Given the description of an element on the screen output the (x, y) to click on. 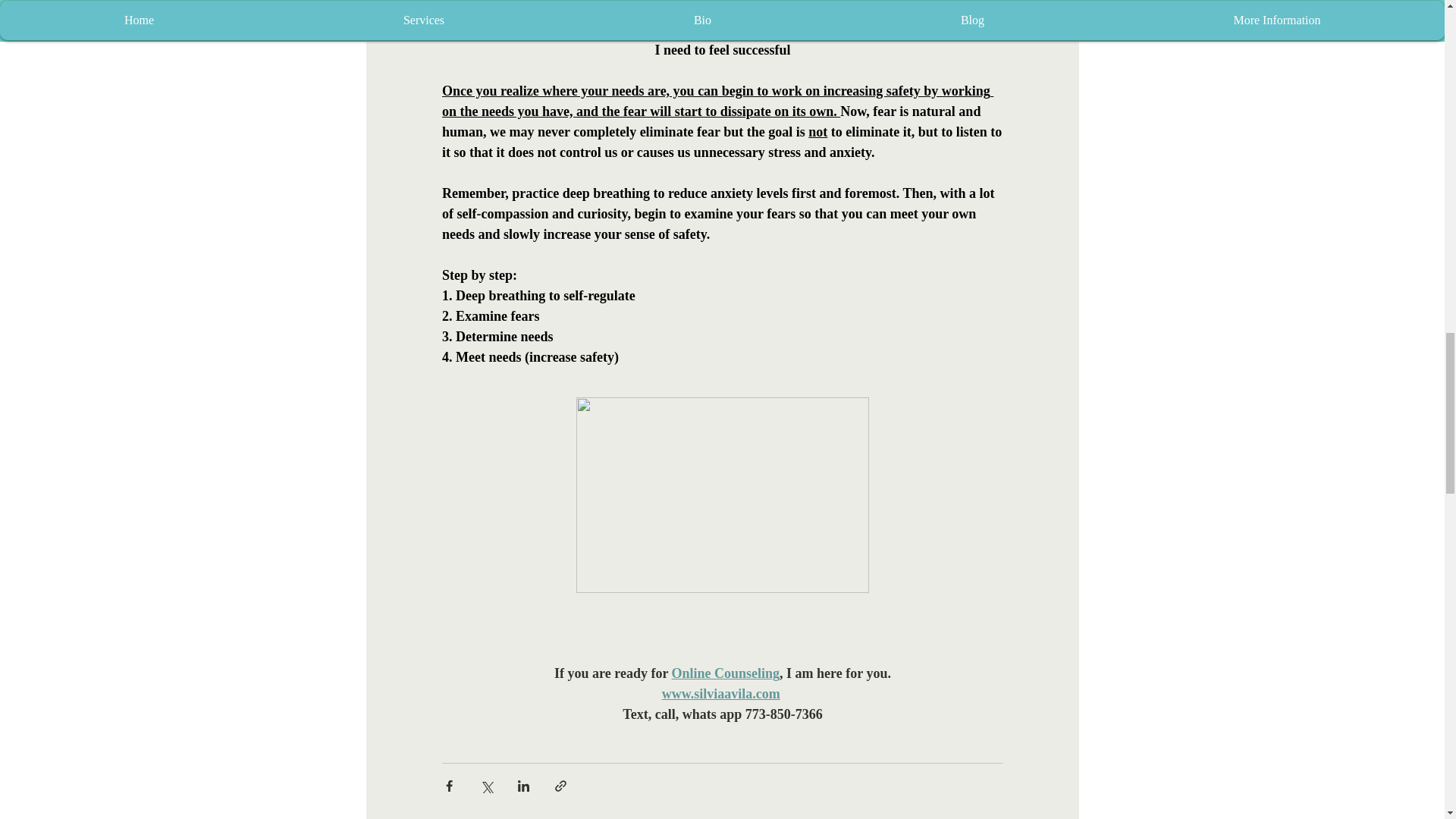
www.silviaavila.com (719, 693)
Online Counseling (724, 672)
